Given the description of an element on the screen output the (x, y) to click on. 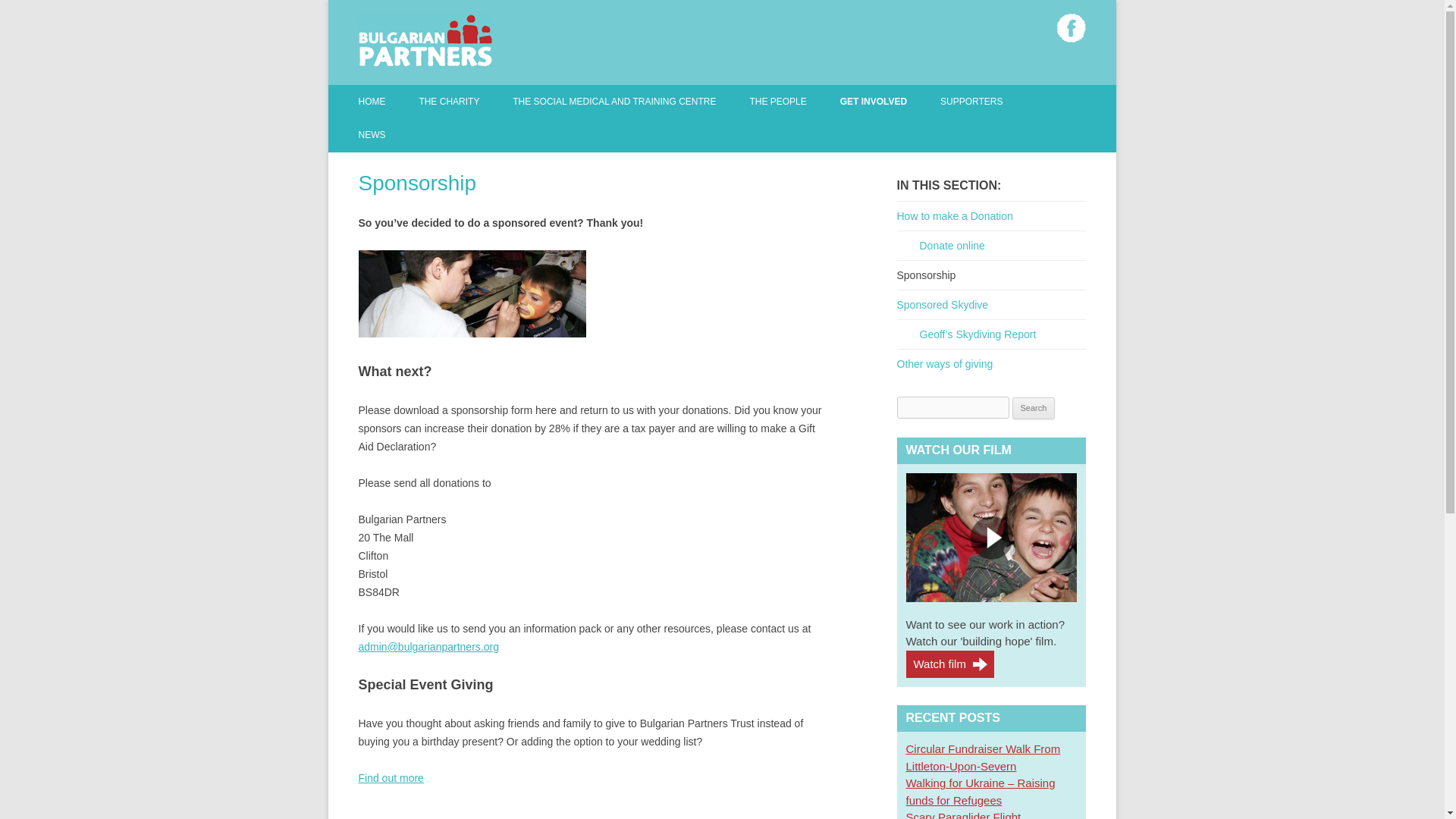
Home (371, 101)
THE SOCIAL MEDICAL AND TRAINING CENTRE (614, 101)
THE VISION (587, 133)
Search (1033, 408)
Like Bulgarian Partners on Facebook (1071, 27)
Find out more (390, 777)
THE PEOPLE (777, 101)
WHAT WE DO (494, 133)
HOME (371, 101)
HOW TO MAKE A DONATION (915, 133)
THE CHARITY (449, 101)
Like Bulgarian Partners on Facebook (1071, 27)
Other ways of giving (390, 777)
GET INVOLVED (873, 101)
